Given the description of an element on the screen output the (x, y) to click on. 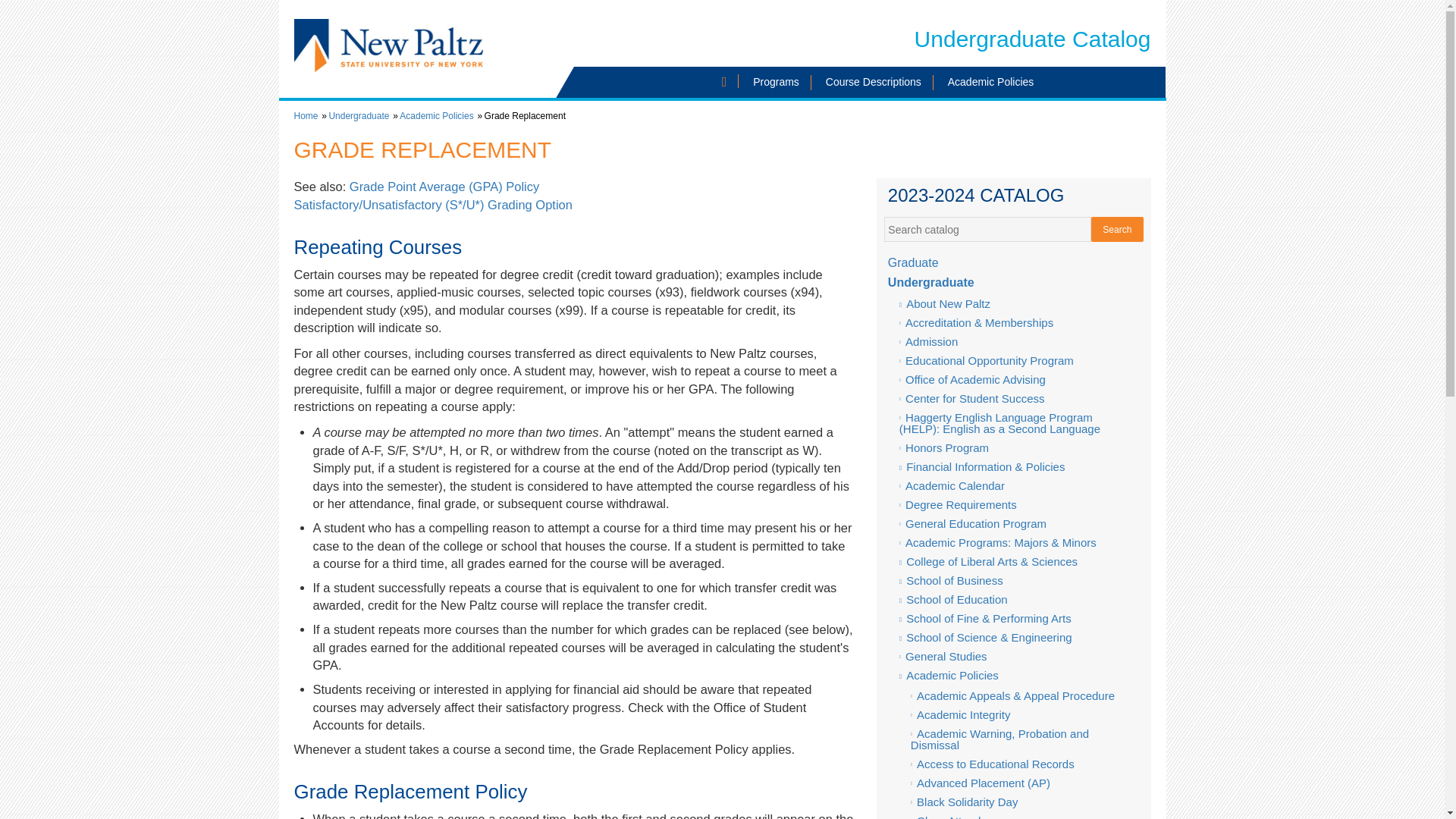
Undergraduate (1015, 282)
Search (1116, 229)
Degree Requirements (1017, 504)
Course Descriptions (873, 82)
Academic Calendar (1017, 485)
Admission (1017, 341)
About New Paltz (1017, 303)
Office of Academic Advising (1017, 378)
Undergraduate (358, 115)
Home (306, 115)
